Given the description of an element on the screen output the (x, y) to click on. 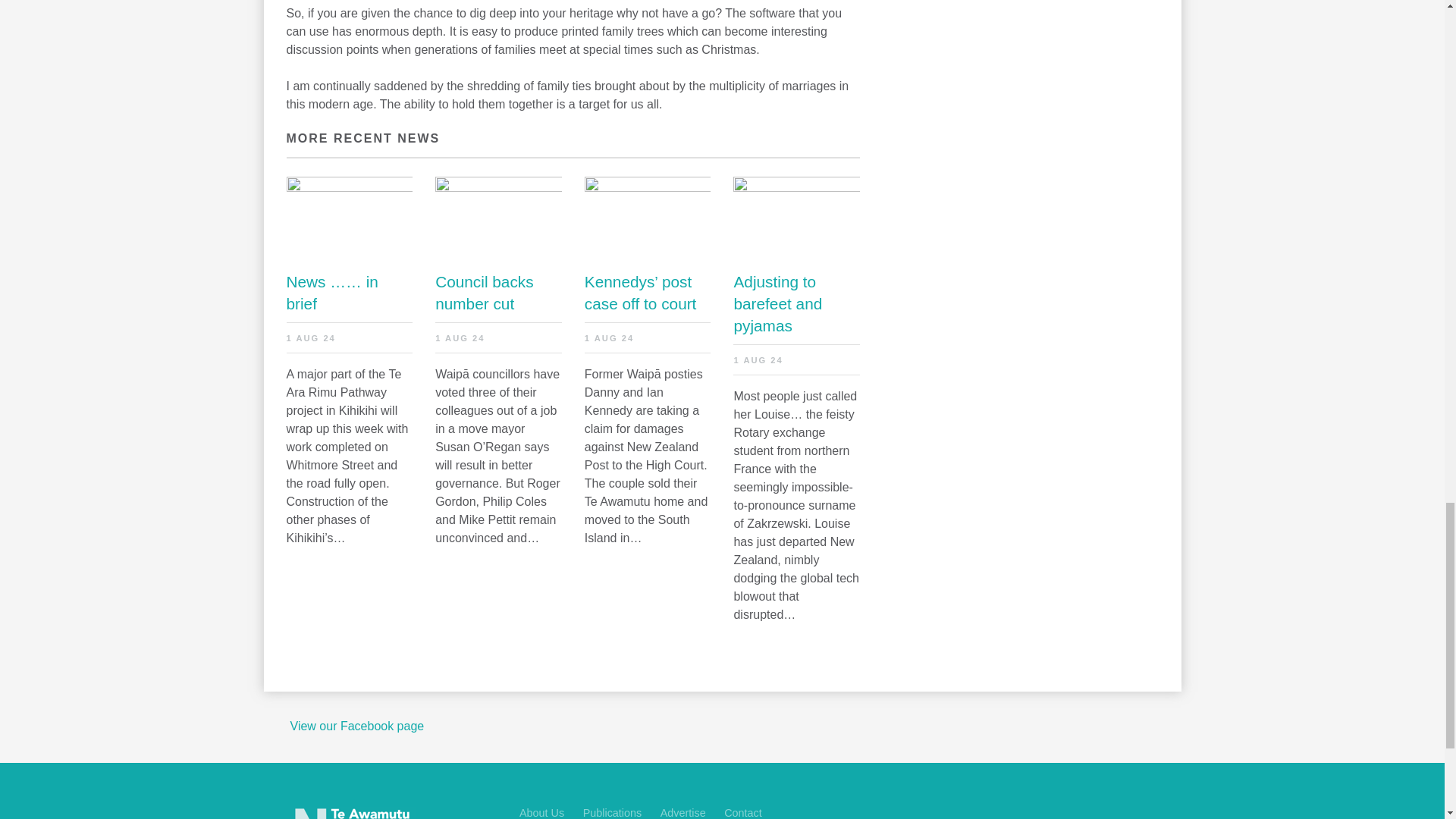
Advertise (683, 812)
View our Facebook page (356, 725)
Council backs number cut (498, 292)
Publications (612, 812)
Adjusting to barefeet and pyjamas (796, 303)
Contact (742, 812)
About Us (541, 812)
